Given the description of an element on the screen output the (x, y) to click on. 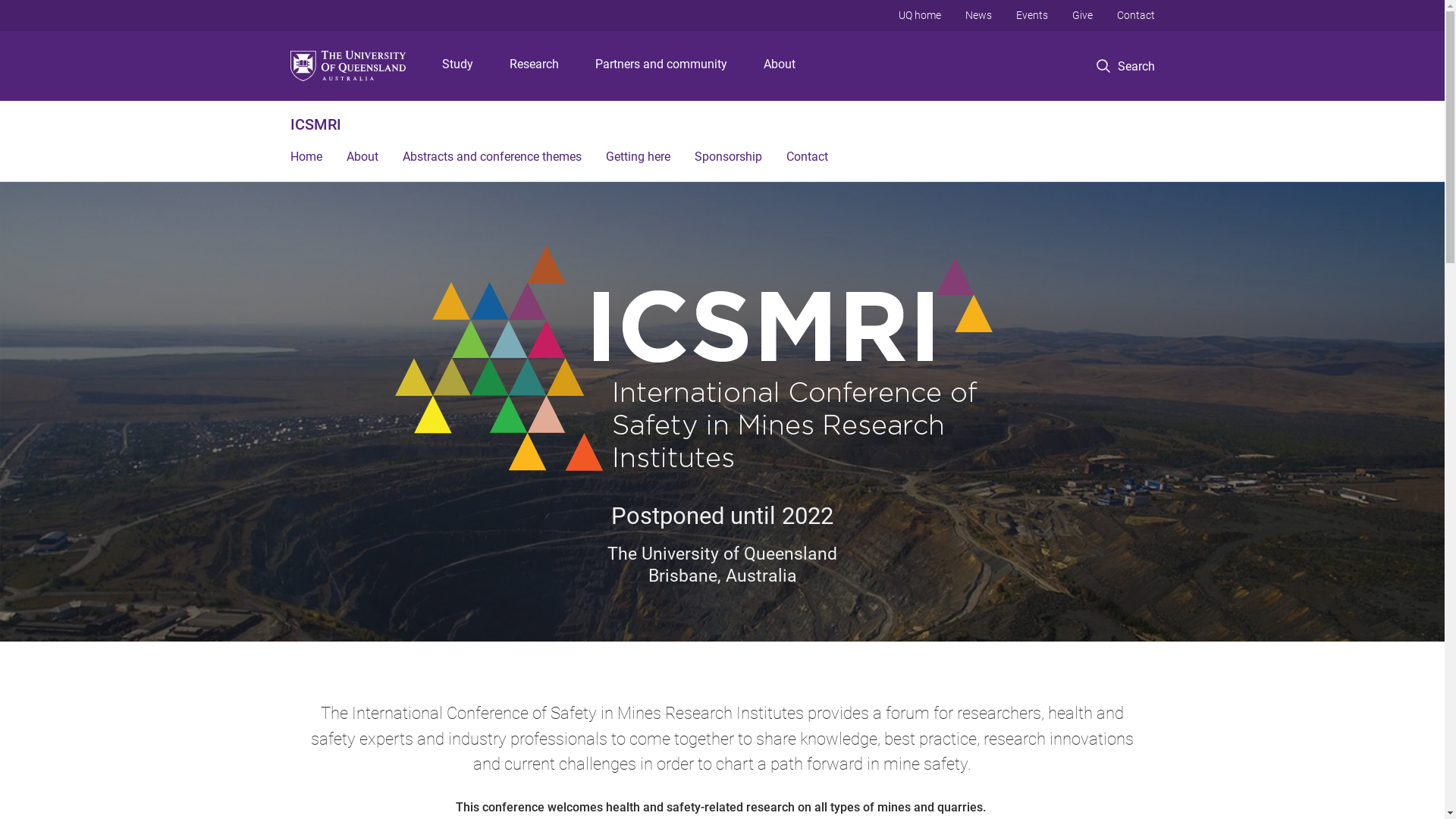
Research Element type: text (533, 65)
ICSMRI Element type: text (314, 124)
About Element type: text (361, 158)
About Element type: text (779, 65)
Events Element type: text (1032, 15)
Contact Element type: text (806, 158)
Skip to menu Element type: text (721, 0)
Getting here Element type: text (637, 158)
Give Element type: text (1082, 15)
UQ home Element type: text (918, 15)
Study Element type: text (457, 65)
Partners and community Element type: text (661, 65)
Sponsorship Element type: text (728, 158)
Search Element type: text (1125, 66)
Search Element type: text (1140, 117)
Contact Element type: text (1135, 15)
Home Element type: text (305, 158)
News Element type: text (977, 15)
Abstracts and conference themes Element type: text (491, 158)
